Given the description of an element on the screen output the (x, y) to click on. 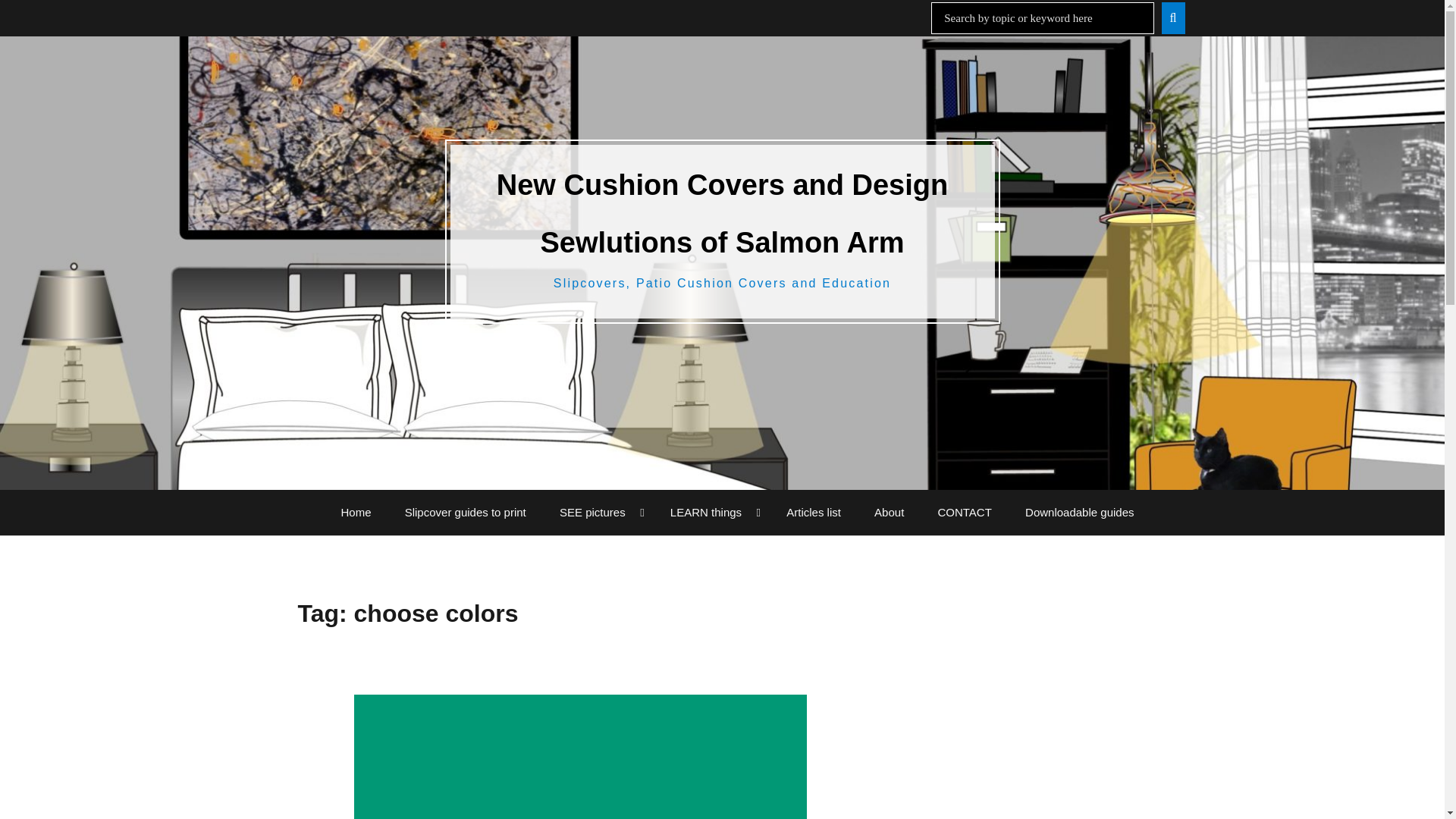
SEE pictures (598, 512)
LEARN things (711, 512)
Slipcover guides to print (465, 512)
About (888, 512)
Home (356, 512)
CONTACT (963, 512)
New Cushion Covers and Design Sewlutions of Salmon Arm (721, 213)
Downloadable guides (1079, 512)
Articles list (813, 512)
